Given the description of an element on the screen output the (x, y) to click on. 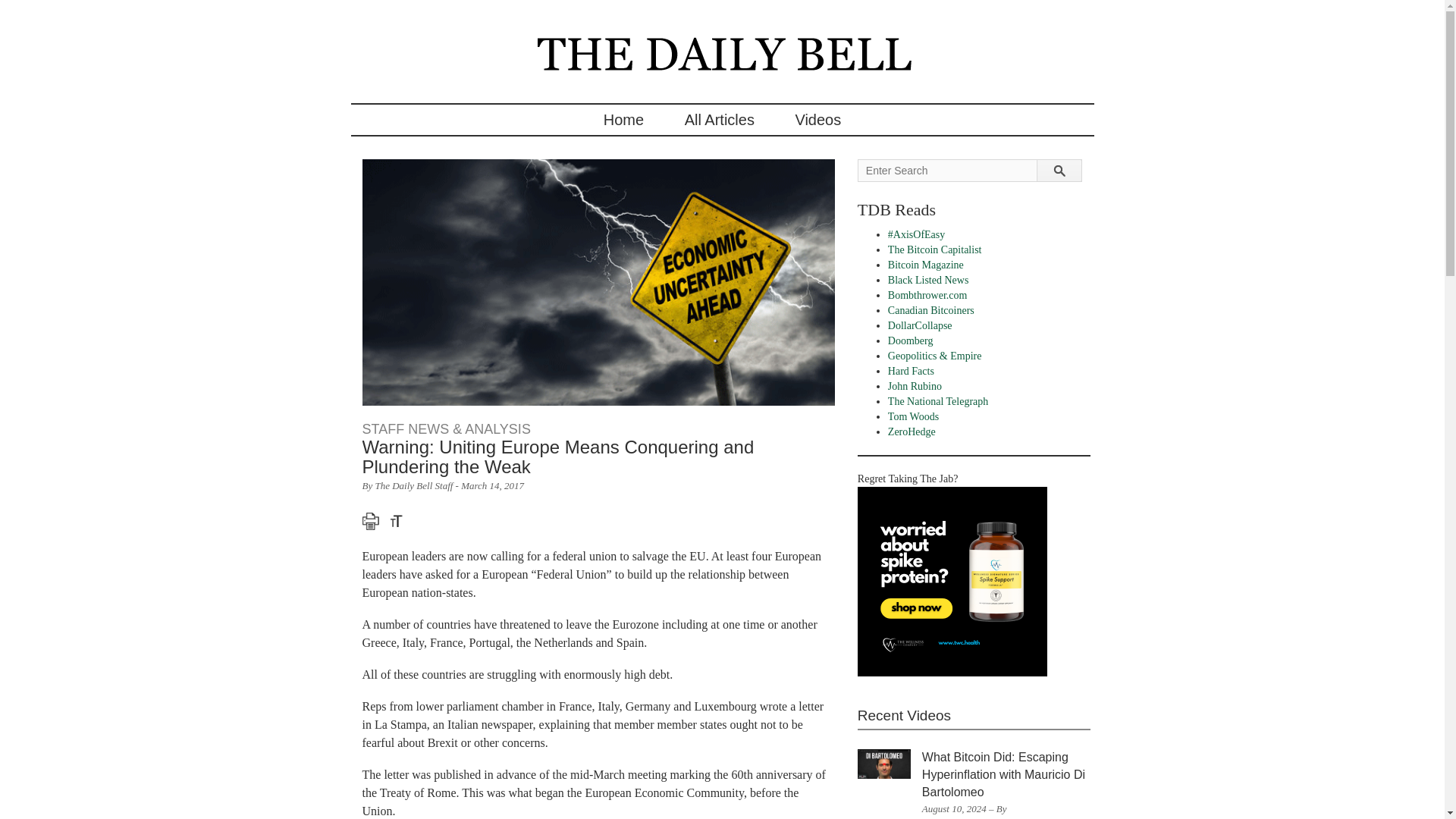
John Rubino (915, 386)
Bombthrower.com (928, 295)
Black Listed News (928, 279)
Tom Woods (913, 416)
Doomberg (910, 340)
Home (623, 119)
All Articles (719, 119)
The National Telegraph (938, 401)
The Bitcoin Capitalist (934, 249)
